Given the description of an element on the screen output the (x, y) to click on. 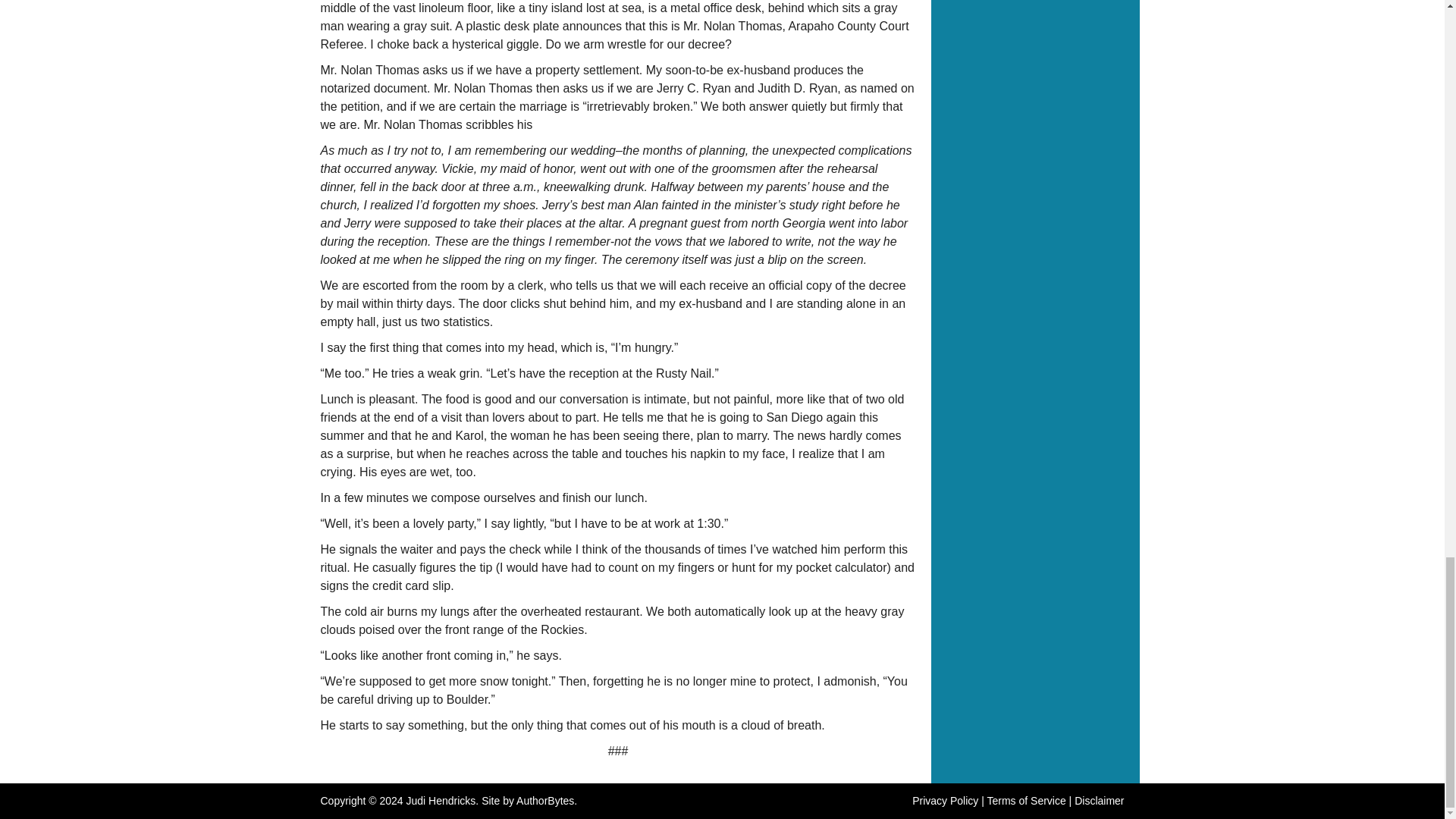
Privacy Policy (945, 800)
Terms of Service (1026, 800)
Disclaimer (1099, 800)
AuthorBytes (544, 800)
